Given the description of an element on the screen output the (x, y) to click on. 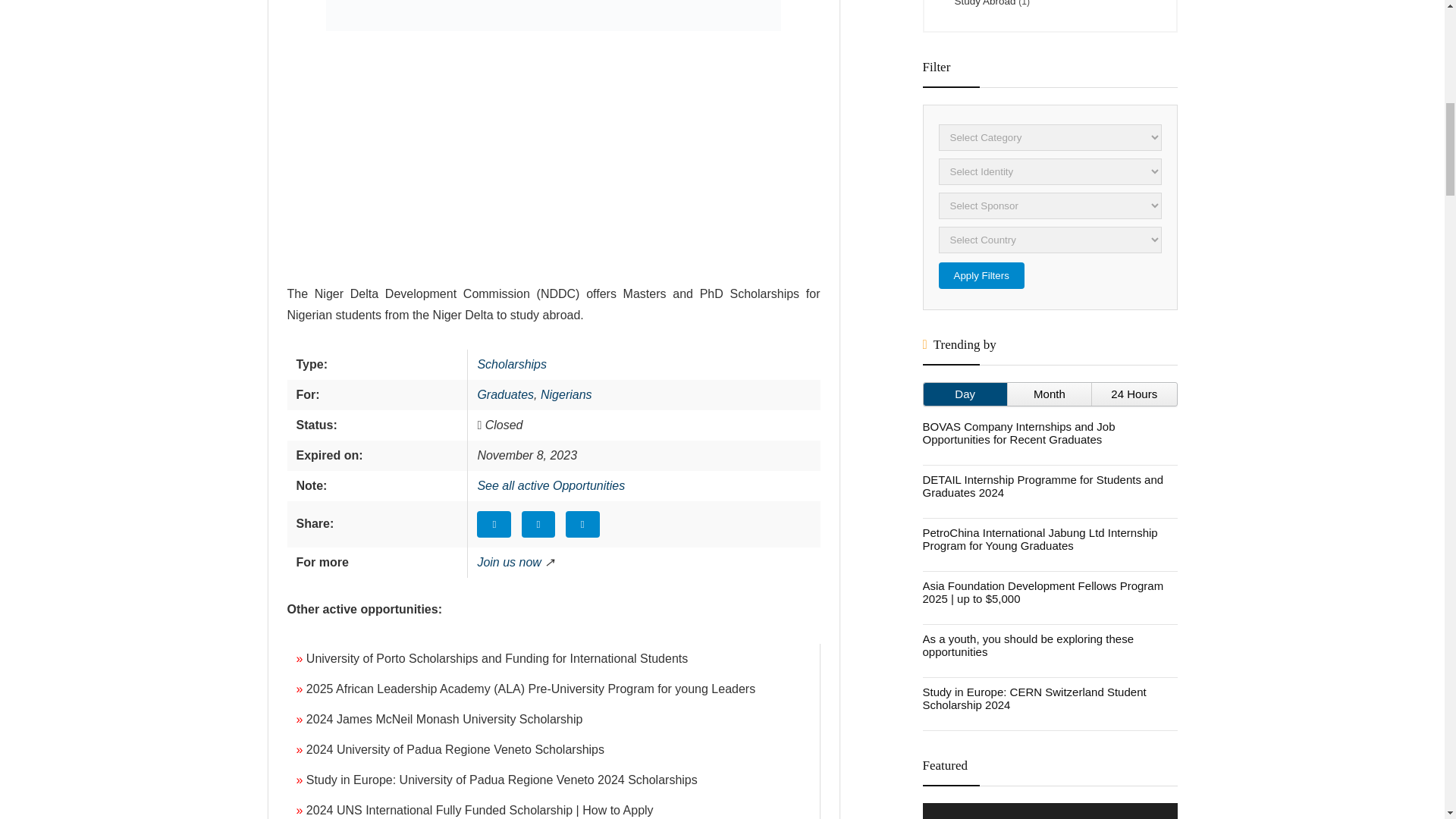
Join us now (509, 562)
Scholarships (512, 364)
2024 James McNeil Monash University Scholarship (444, 718)
Graduates (505, 394)
See all active Opportunities (550, 485)
Nigerians (566, 394)
